Given the description of an element on the screen output the (x, y) to click on. 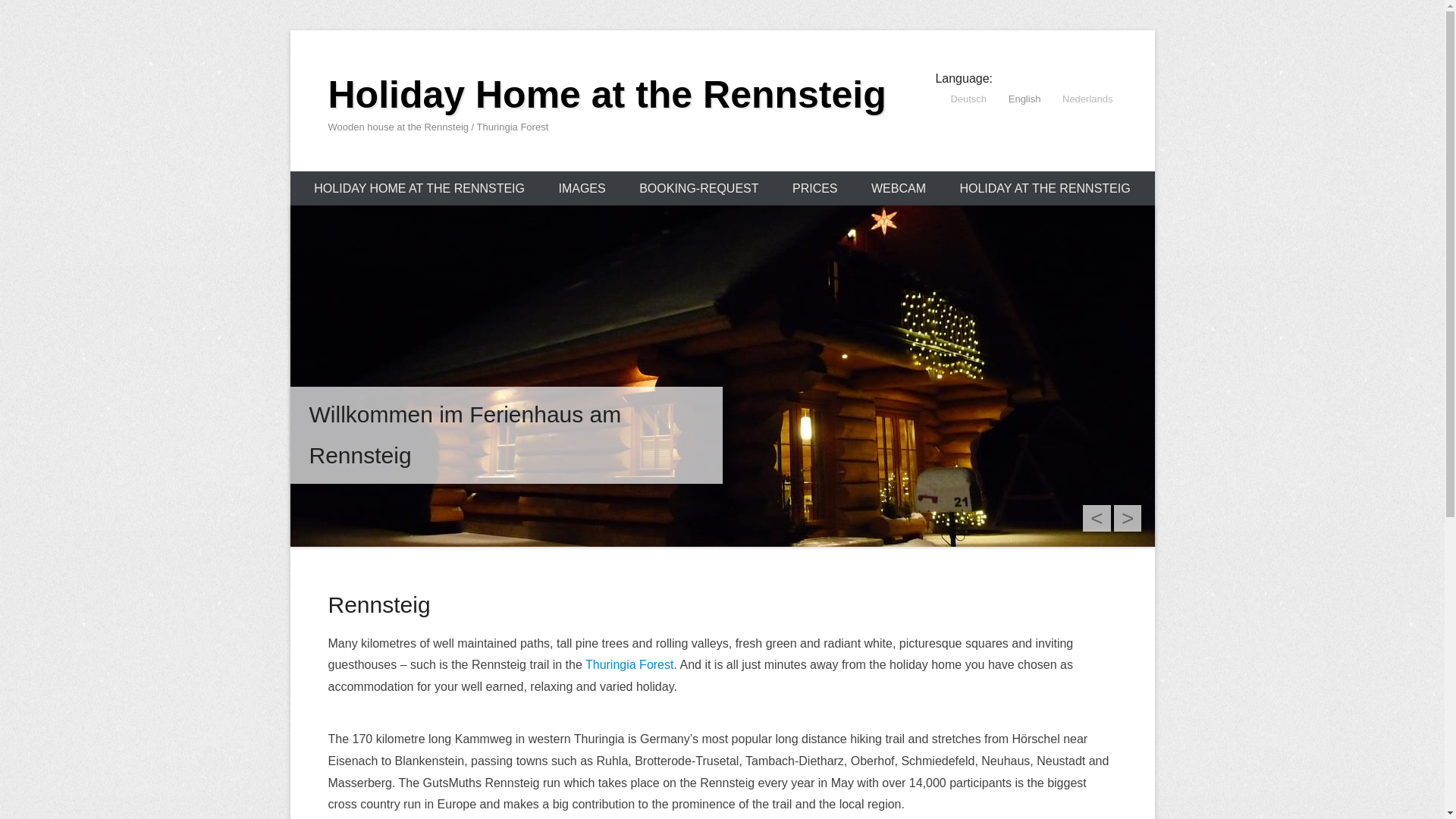
Webcam of the Holiday Home at the Rennsteig (898, 188)
Holiday Home at the Rennsteig (606, 94)
Buchungs-Anfrage, Booking-Request, Boeking-Aanvraag (698, 188)
HOLIDAY AT THE RENNSTEIG (1043, 188)
PRICES (815, 188)
WEBCAM (898, 188)
Thuringia Forest (629, 664)
Nederlands (1079, 98)
IMAGES (581, 188)
BOOKING-REQUEST (698, 188)
HOLIDAY HOME AT THE RENNSTEIG (419, 188)
English (1016, 98)
